Given the description of an element on the screen output the (x, y) to click on. 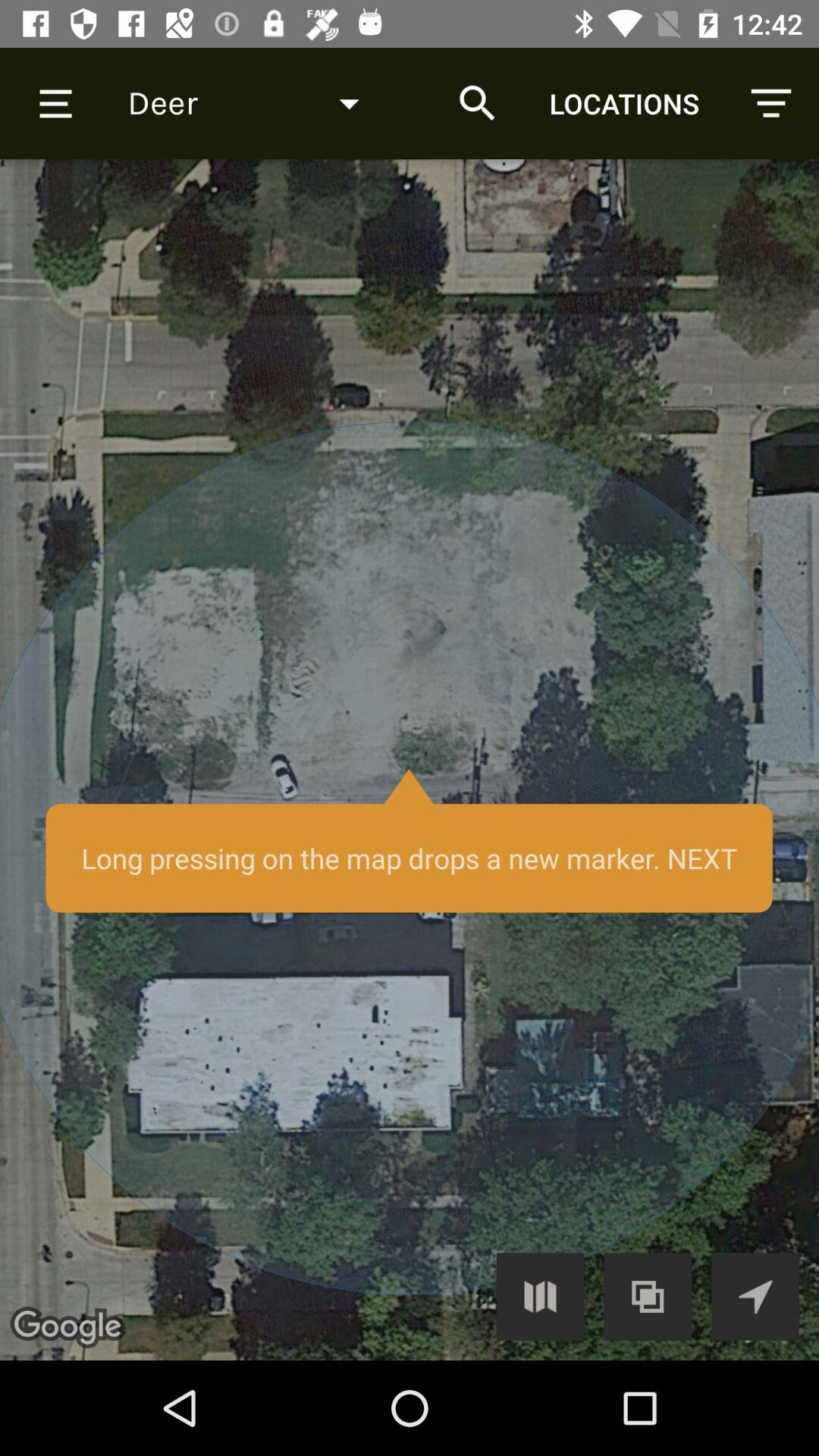
toggle layers (647, 1296)
